Given the description of an element on the screen output the (x, y) to click on. 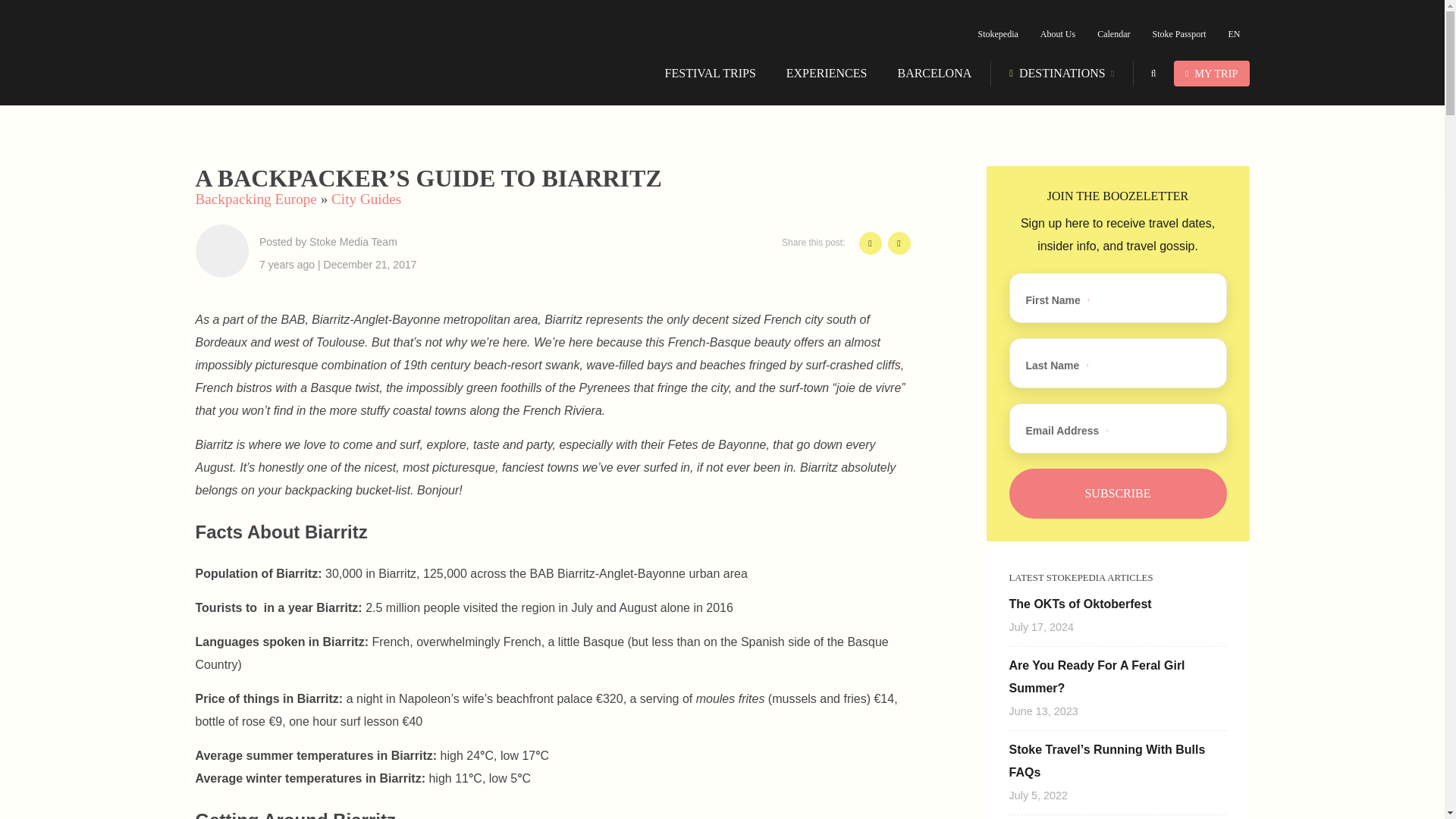
FESTIVAL TRIPS (710, 73)
EXPERIENCES (826, 73)
Subscribe (1117, 493)
BARCELONA (933, 73)
EN (1234, 33)
MY TRIP (1211, 73)
DESTINATIONS (1061, 73)
About Us (1057, 33)
Calendar (1112, 33)
Stokepedia (998, 33)
Stoke Passport (1178, 33)
